Given the description of an element on the screen output the (x, y) to click on. 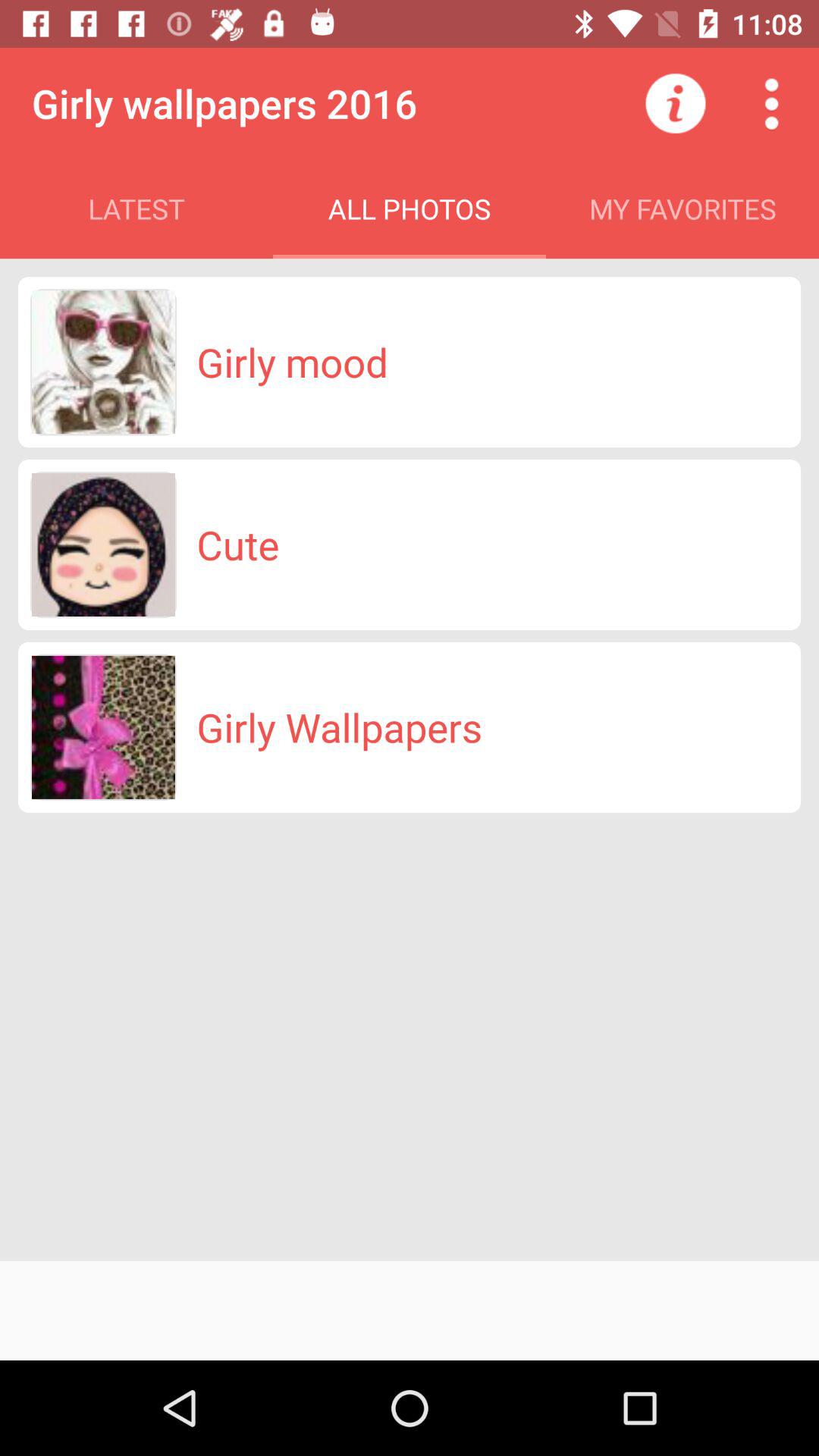
open the icon below the girly mood (237, 544)
